Given the description of an element on the screen output the (x, y) to click on. 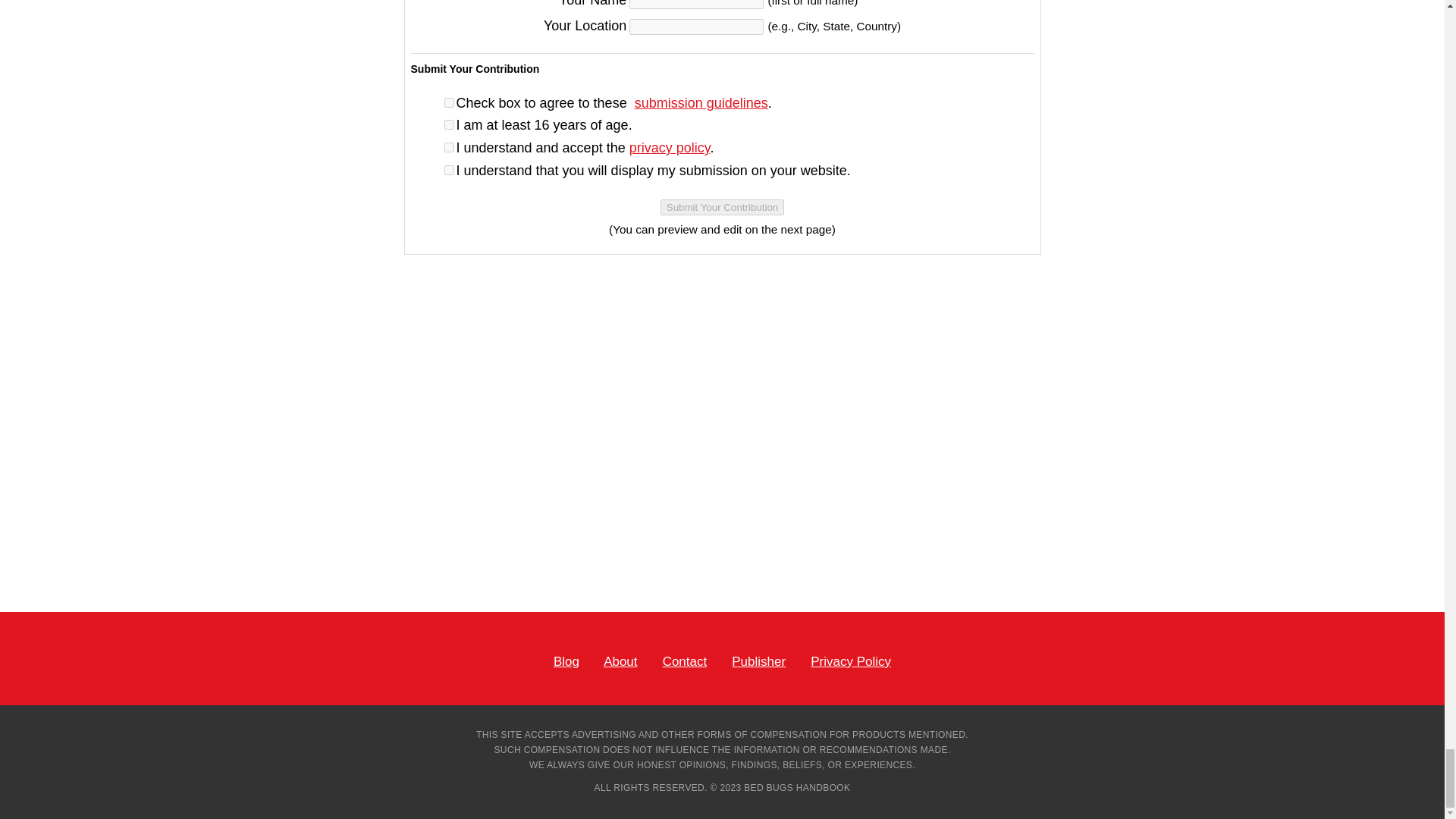
1 (449, 147)
Submit Your Contribution (722, 207)
checkbox (449, 102)
1 (449, 124)
1 (449, 170)
